Given the description of an element on the screen output the (x, y) to click on. 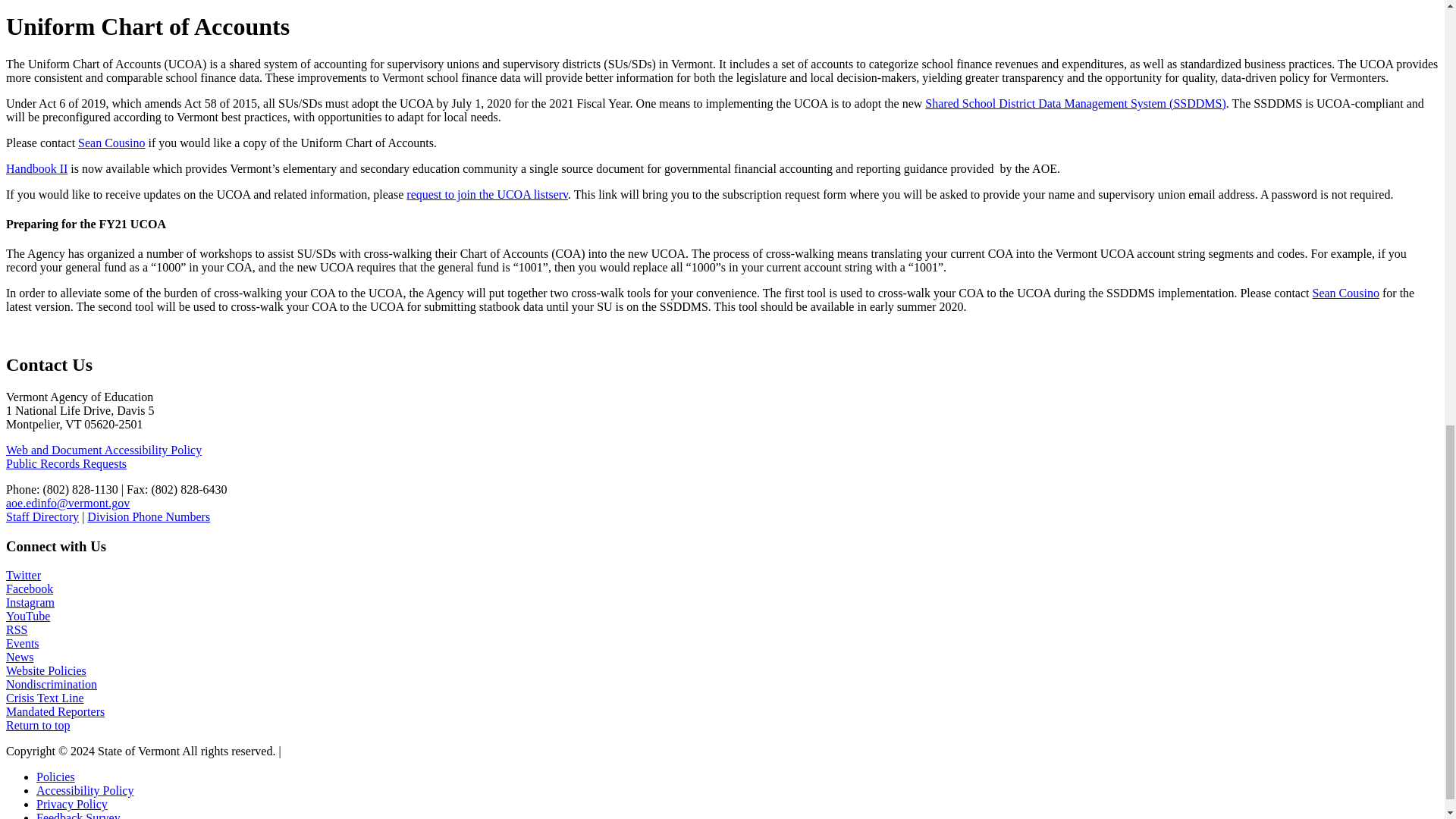
This link is external and will open in a new window (55, 776)
This link is external and will open in a new window (71, 803)
This link is external and will open in a new window (84, 789)
